Given the description of an element on the screen output the (x, y) to click on. 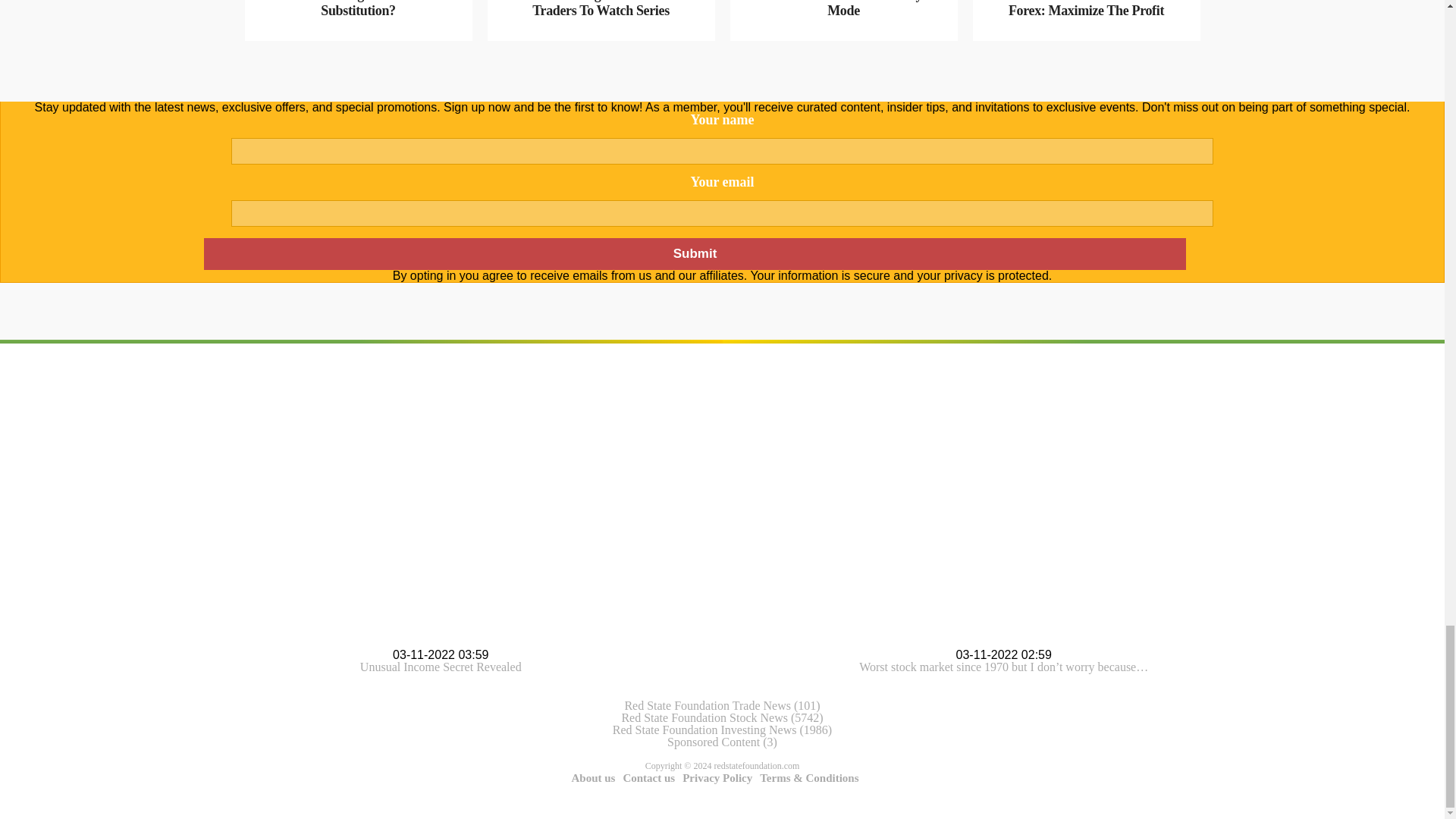
Submit (694, 254)
